Given the description of an element on the screen output the (x, y) to click on. 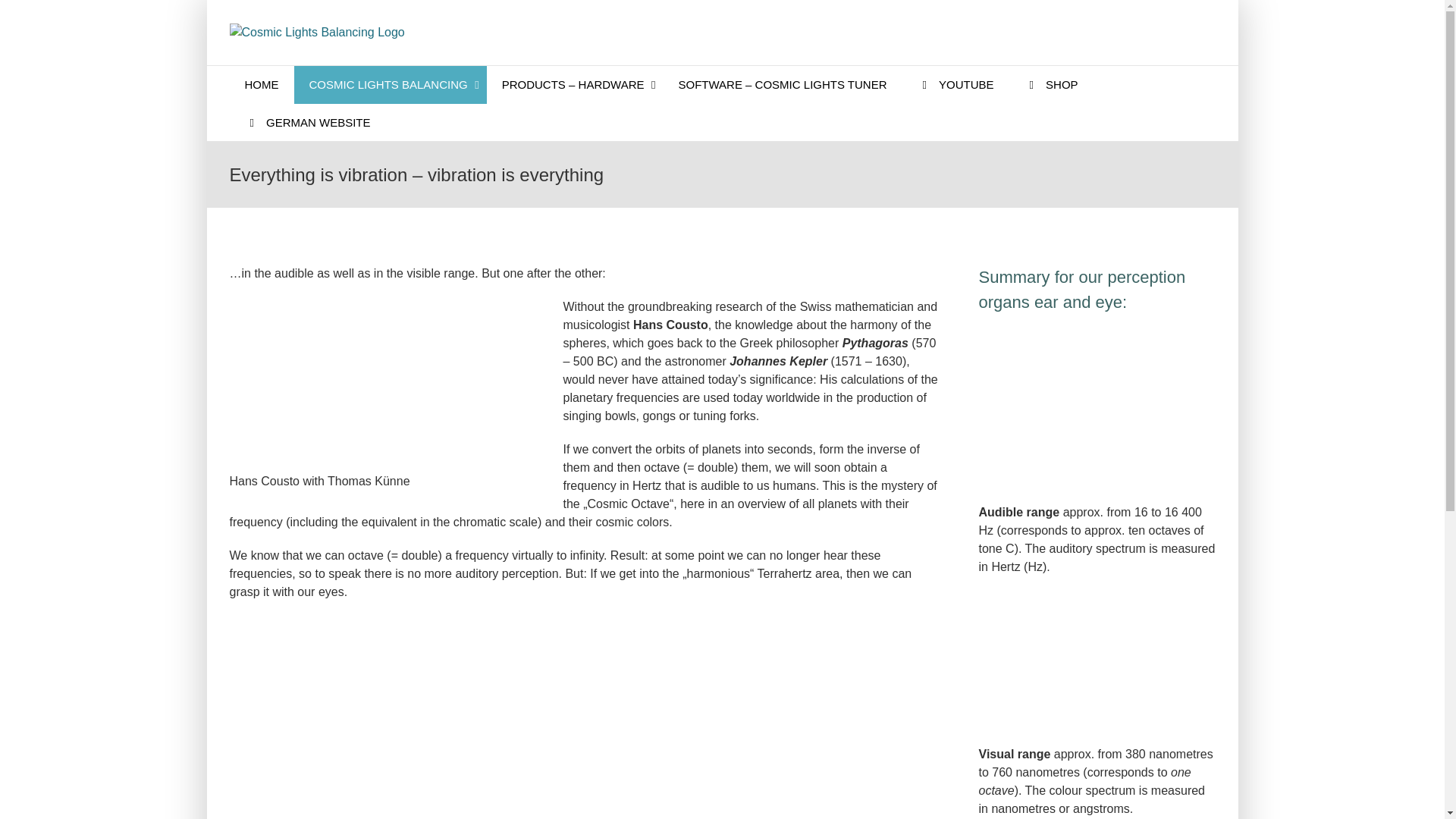
HOME (261, 85)
GERMAN WEBSITE (306, 121)
YOUTUBE (955, 85)
SHOP (1051, 85)
COSMIC LIGHTS BALANCING (390, 85)
